Given the description of an element on the screen output the (x, y) to click on. 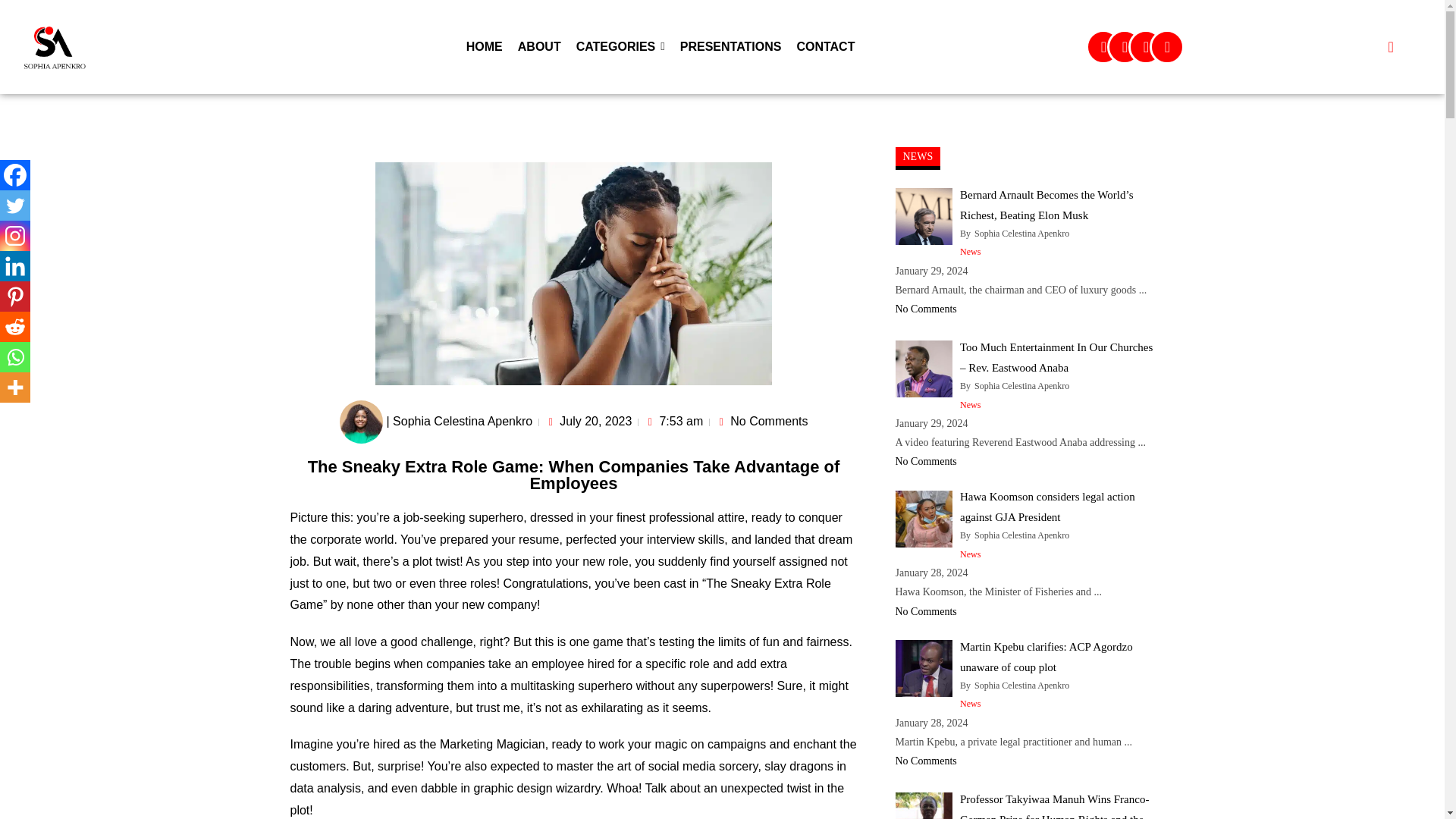
HOME (483, 46)
ABOUT (539, 46)
CATEGORIES (620, 46)
